Given the description of an element on the screen output the (x, y) to click on. 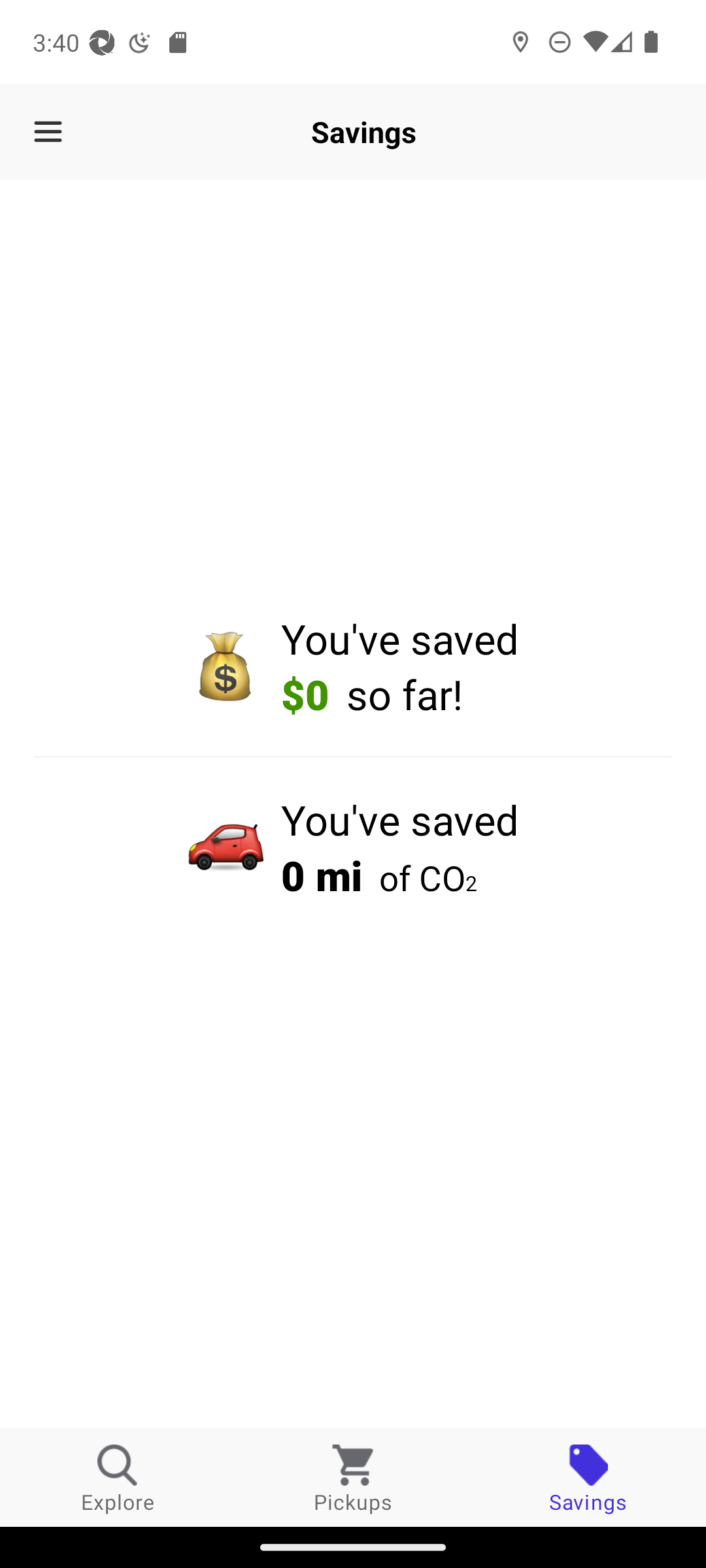
Navigate up (48, 131)
Explore (117, 1478)
Pickups (352, 1478)
